Given the description of an element on the screen output the (x, y) to click on. 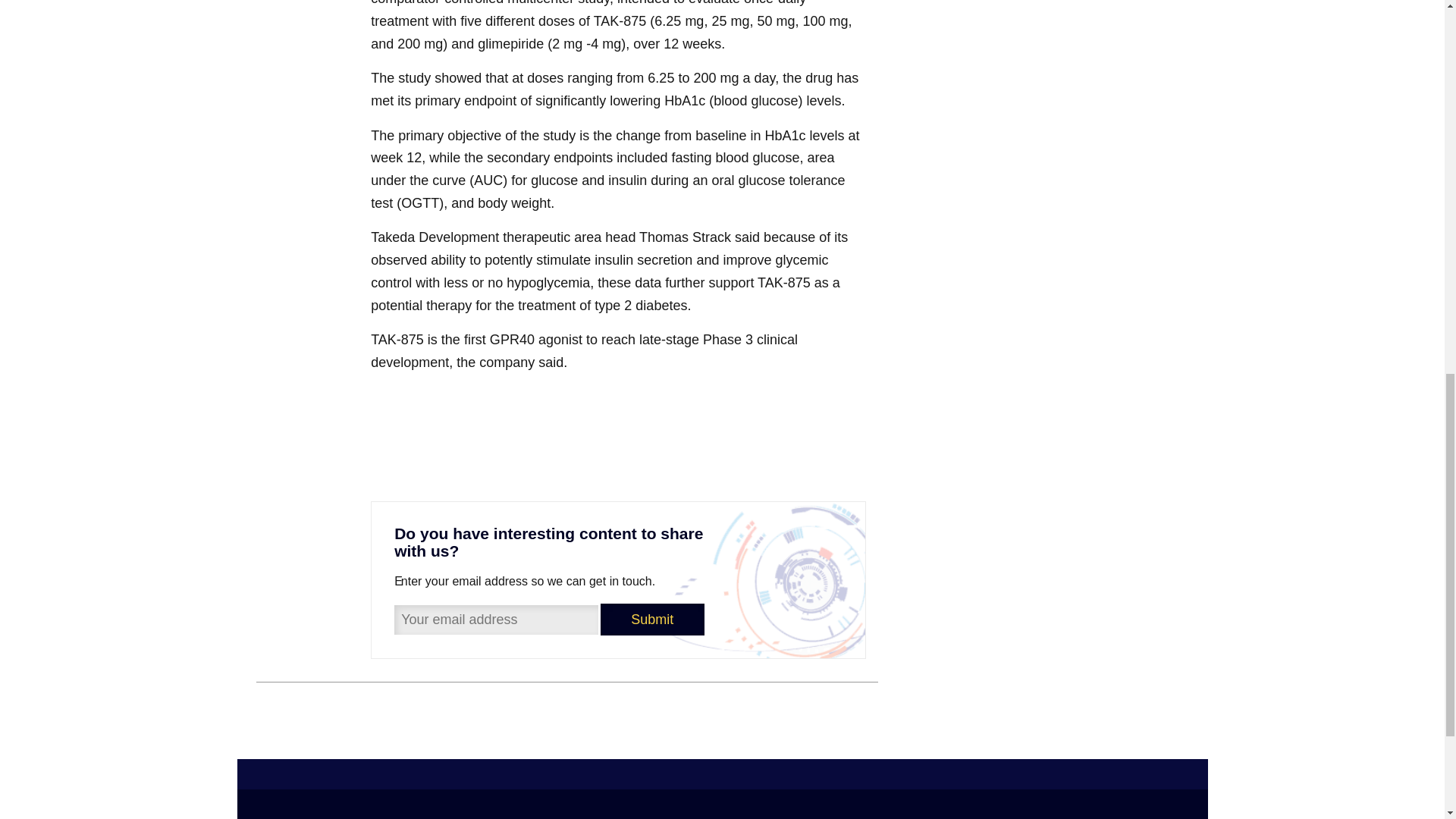
Submit (651, 618)
